Given the description of an element on the screen output the (x, y) to click on. 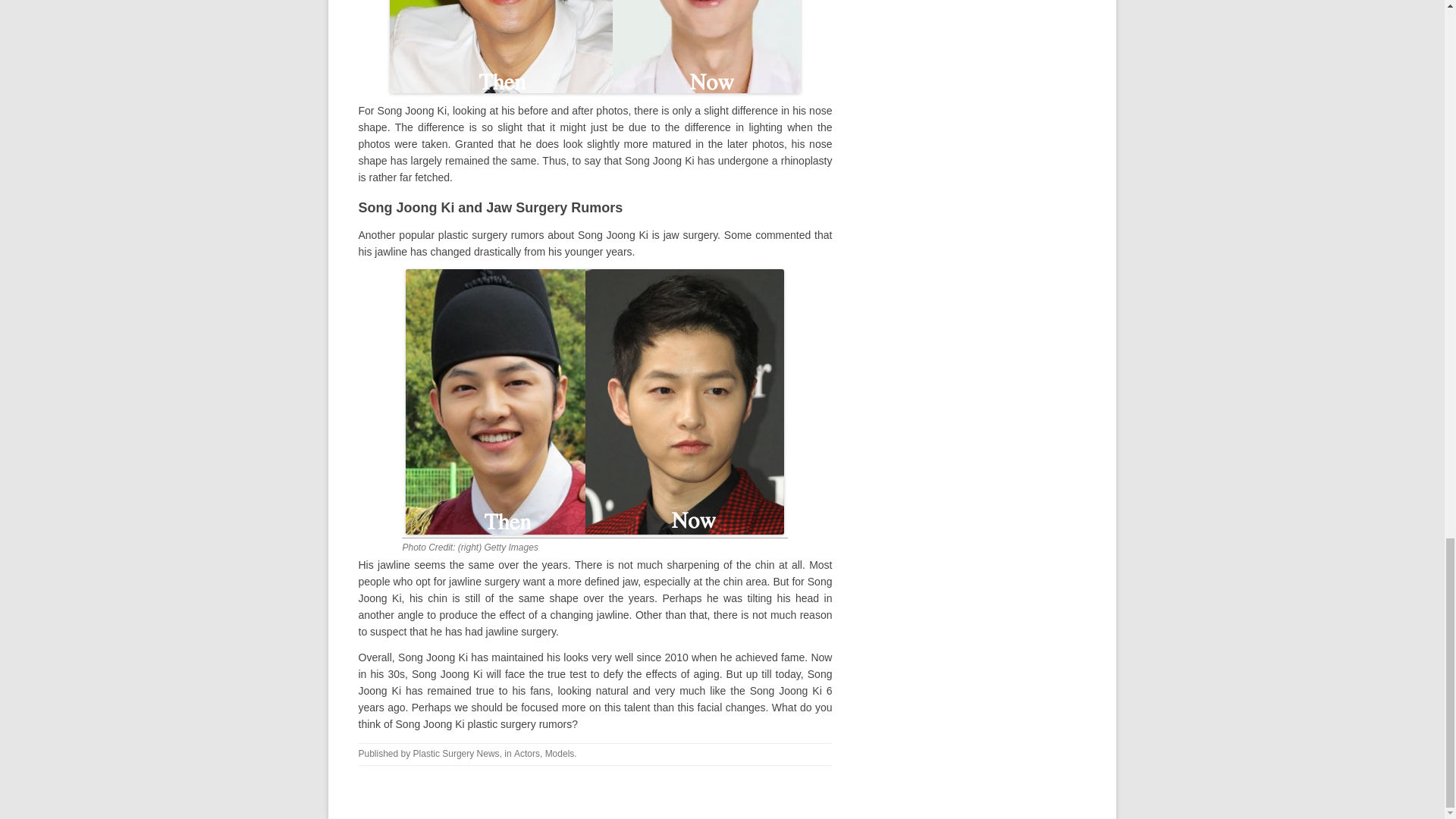
View all posts by Plastic Surgery News (456, 753)
Models (559, 753)
Actors (526, 753)
Plastic Surgery News (456, 753)
